Given the description of an element on the screen output the (x, y) to click on. 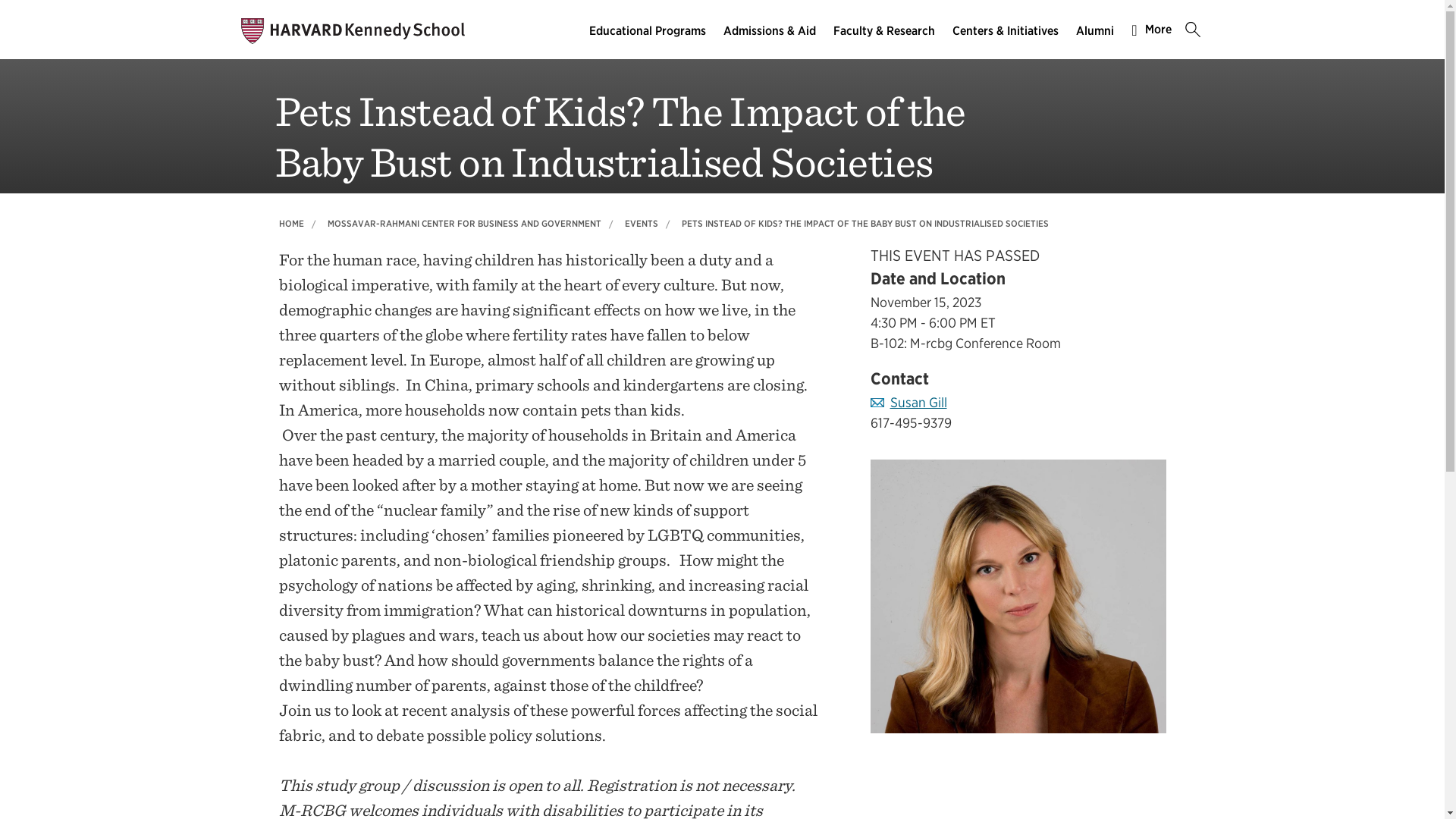
Harvard Kennedy School (352, 29)
